Given the description of an element on the screen output the (x, y) to click on. 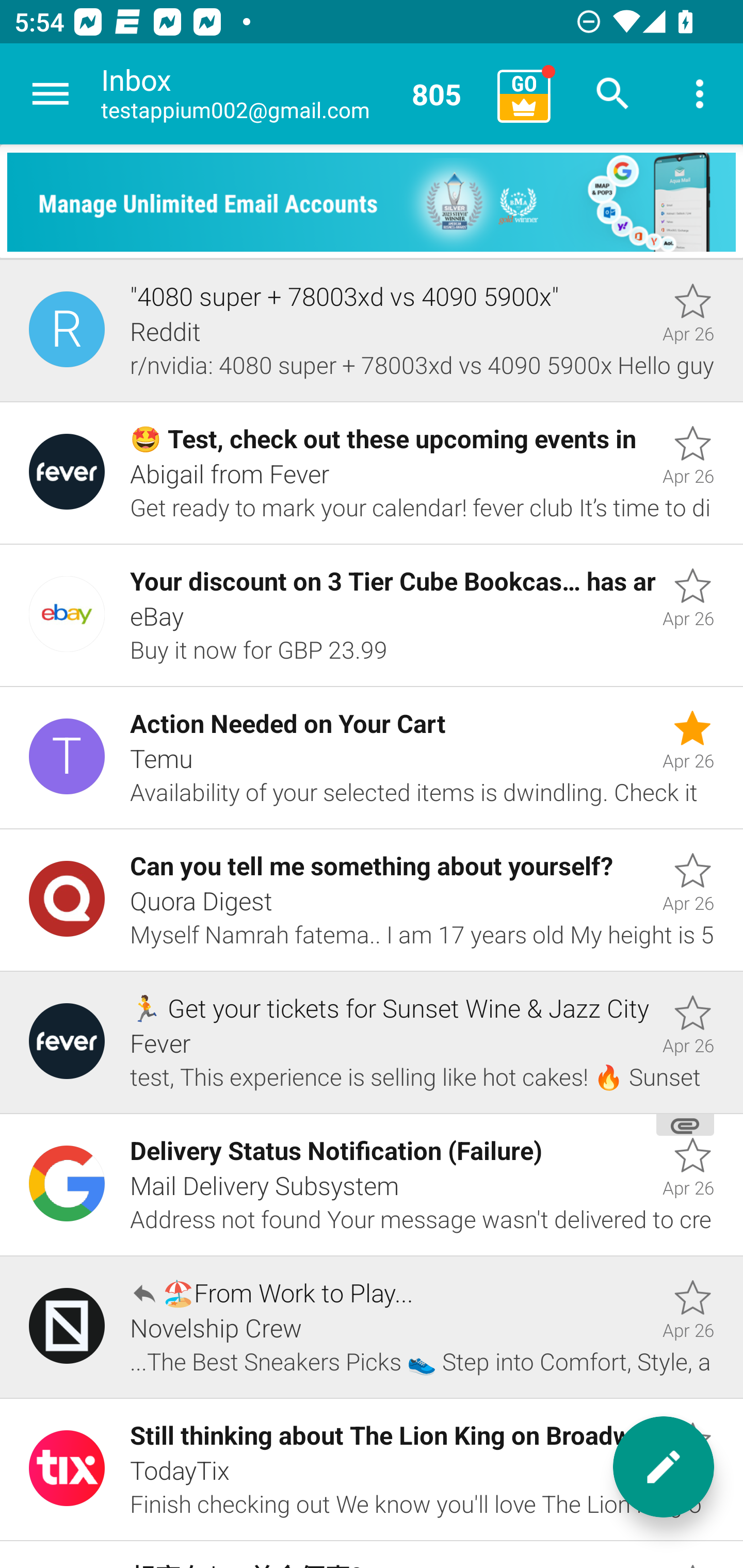
Navigate up (50, 93)
Inbox testappium002@gmail.com 805 (291, 93)
Search (612, 93)
More options (699, 93)
New message (663, 1466)
